Given the description of an element on the screen output the (x, y) to click on. 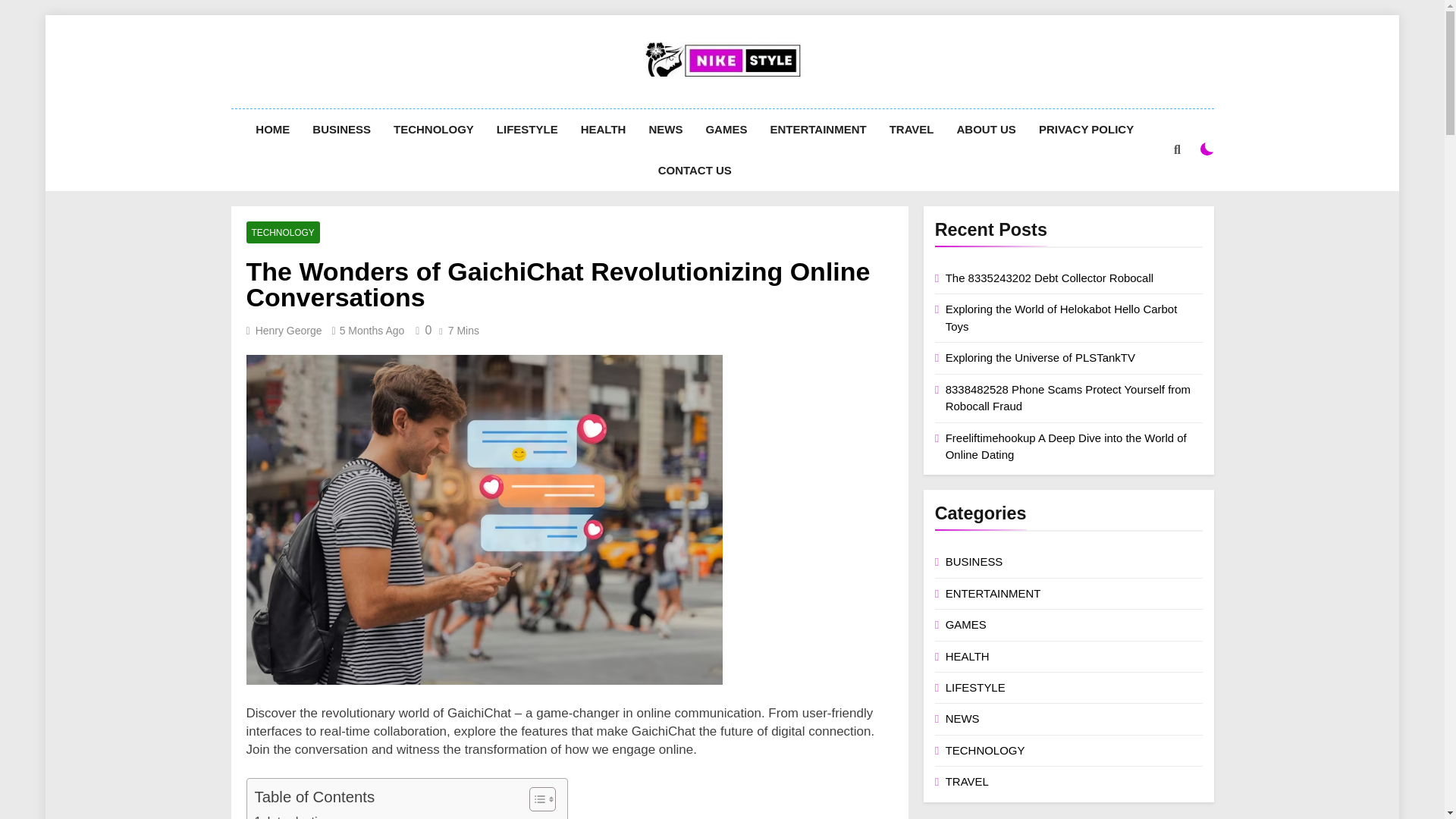
TECHNOLOGY (432, 128)
TECHNOLOGY (282, 232)
CONTACT US (694, 169)
BUSINESS (341, 128)
HOME (272, 128)
GAMES (726, 128)
ABOUT US (985, 128)
PRIVACY POLICY (1085, 128)
HEALTH (603, 128)
ENTERTAINMENT (817, 128)
LIFESTYLE (526, 128)
0 (420, 329)
on (1206, 149)
NEWS (665, 128)
